Given the description of an element on the screen output the (x, y) to click on. 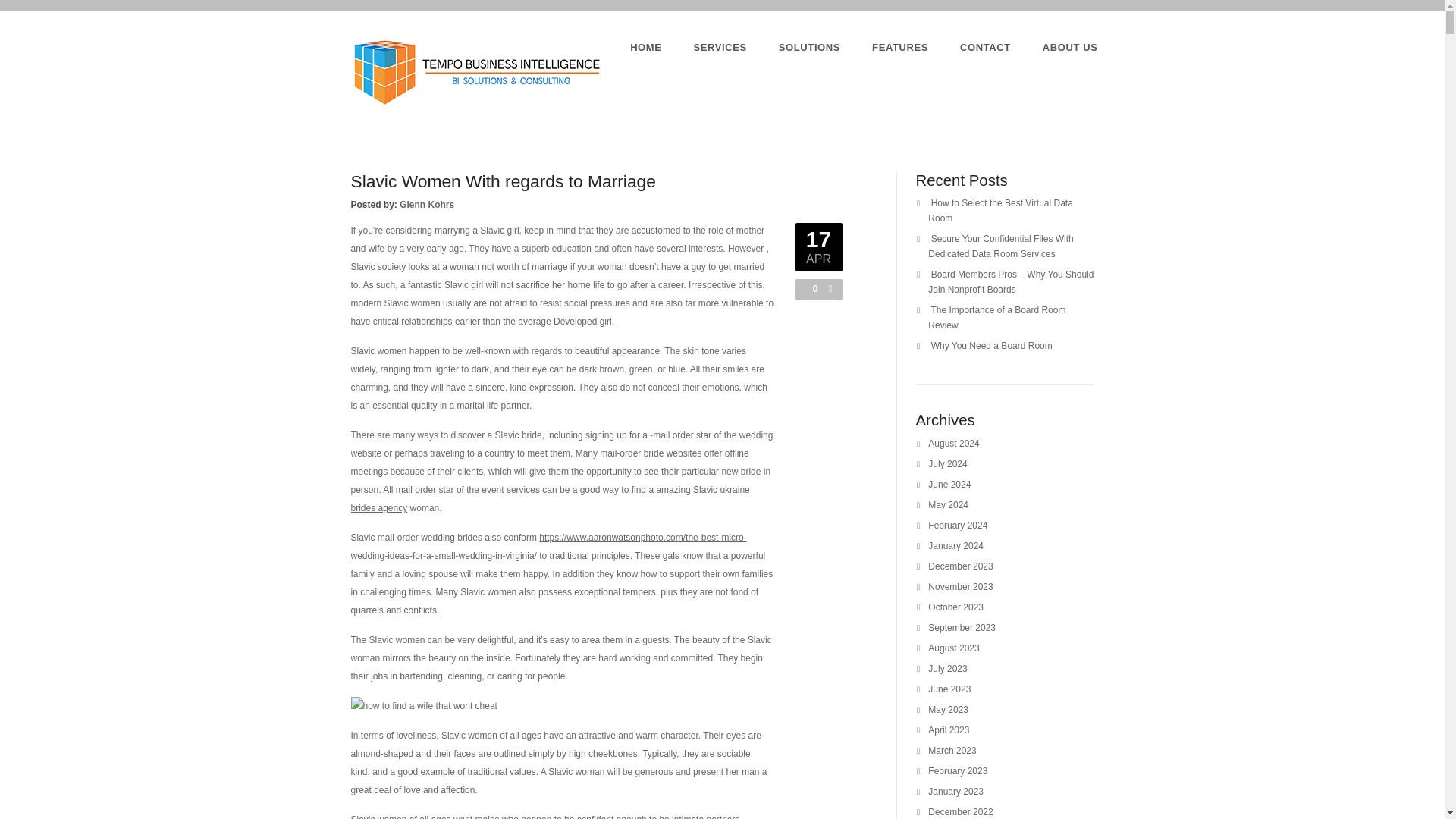
FEATURES (900, 47)
HOME (645, 47)
Posts by Glenn Kohrs (426, 204)
ukraine brides agency (549, 498)
SOLUTIONS (809, 47)
The Importance of a Board Room Review (996, 317)
Glenn Kohrs (426, 204)
0 (811, 288)
SERVICES (720, 47)
